Given the description of an element on the screen output the (x, y) to click on. 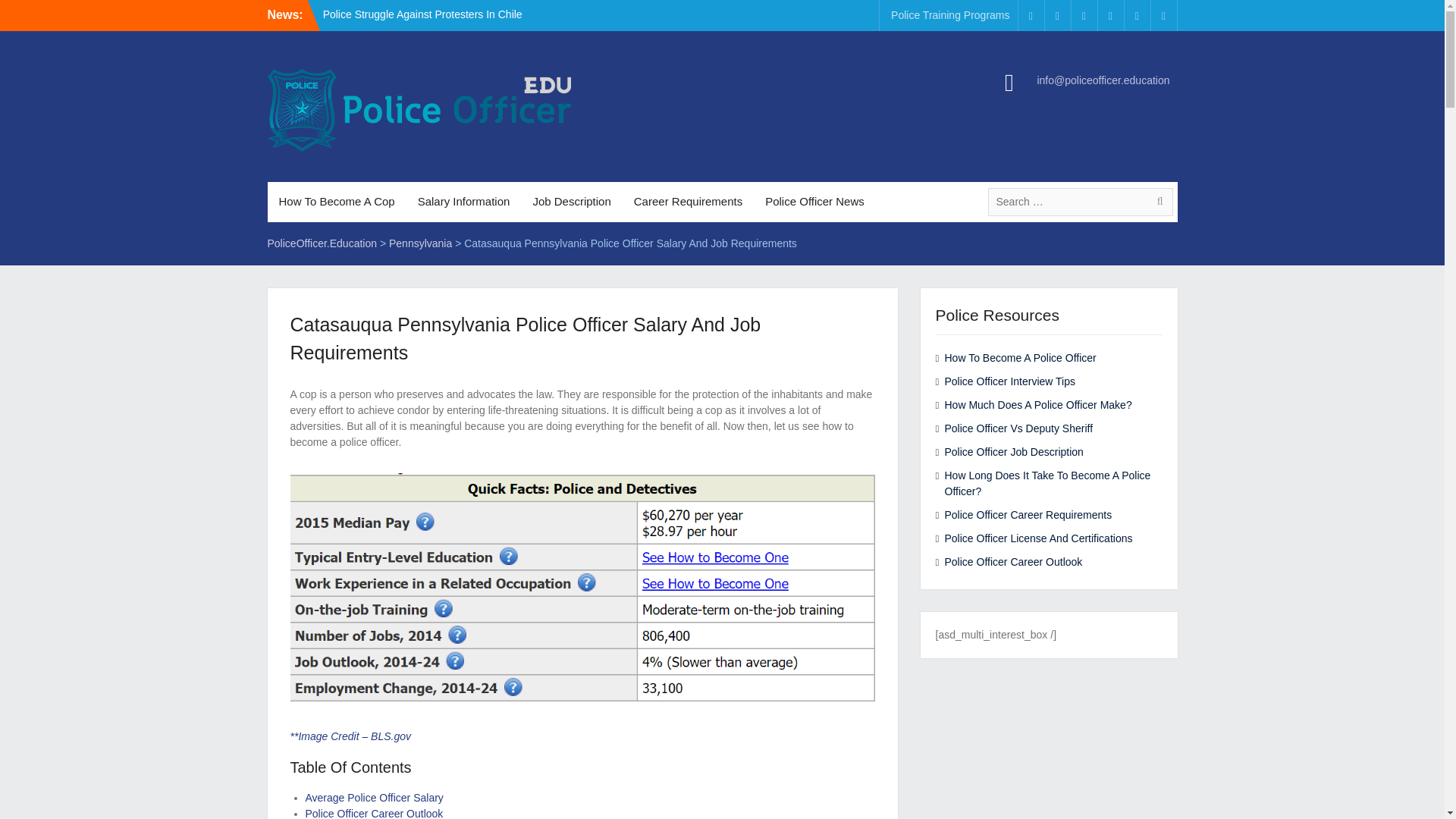
Career Requirements (688, 201)
How To Become A Cop (336, 201)
Go to the Pennsylvania State Career archives. (419, 242)
Police Training Programs (949, 15)
Police Officer Career Outlook (373, 813)
Salary Information (463, 201)
Pennsylvania (419, 242)
Police Officer News (815, 201)
Average Police Officer Salary (373, 797)
Go to PoliceOfficer.Education. (321, 242)
